Given the description of an element on the screen output the (x, y) to click on. 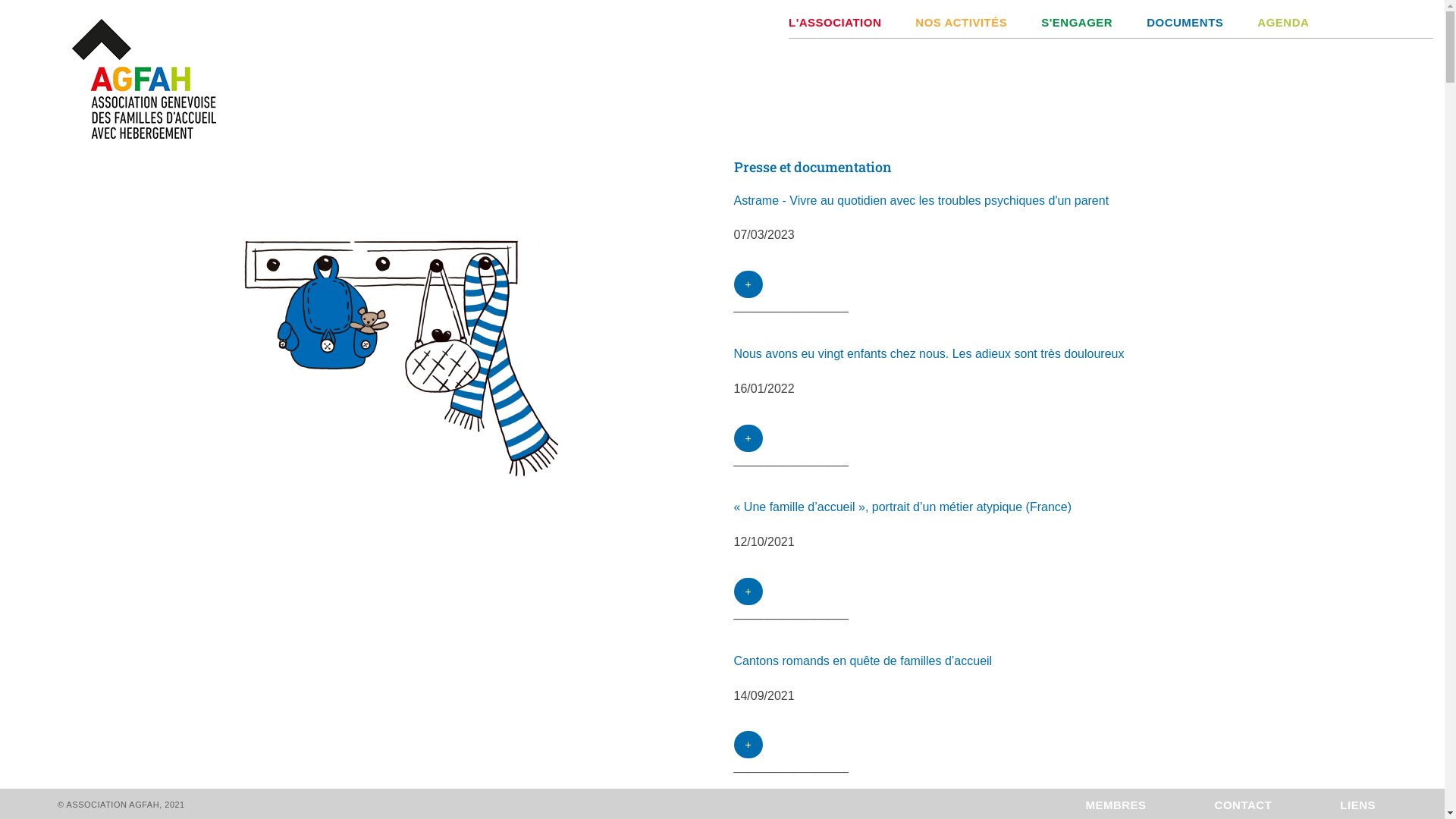
CONTACT Element type: text (1277, 804)
S'ENGAGER Element type: text (1059, 18)
+ Element type: text (748, 591)
+ Element type: text (748, 284)
L'ASSOCIATION Element type: text (834, 18)
+ Element type: text (748, 437)
+ Element type: text (748, 744)
MEMBRES Element type: text (1149, 804)
DOCUMENTS Element type: text (1167, 18)
LIENS Element type: text (1391, 804)
AGENDA Element type: text (1265, 18)
